Given the description of an element on the screen output the (x, y) to click on. 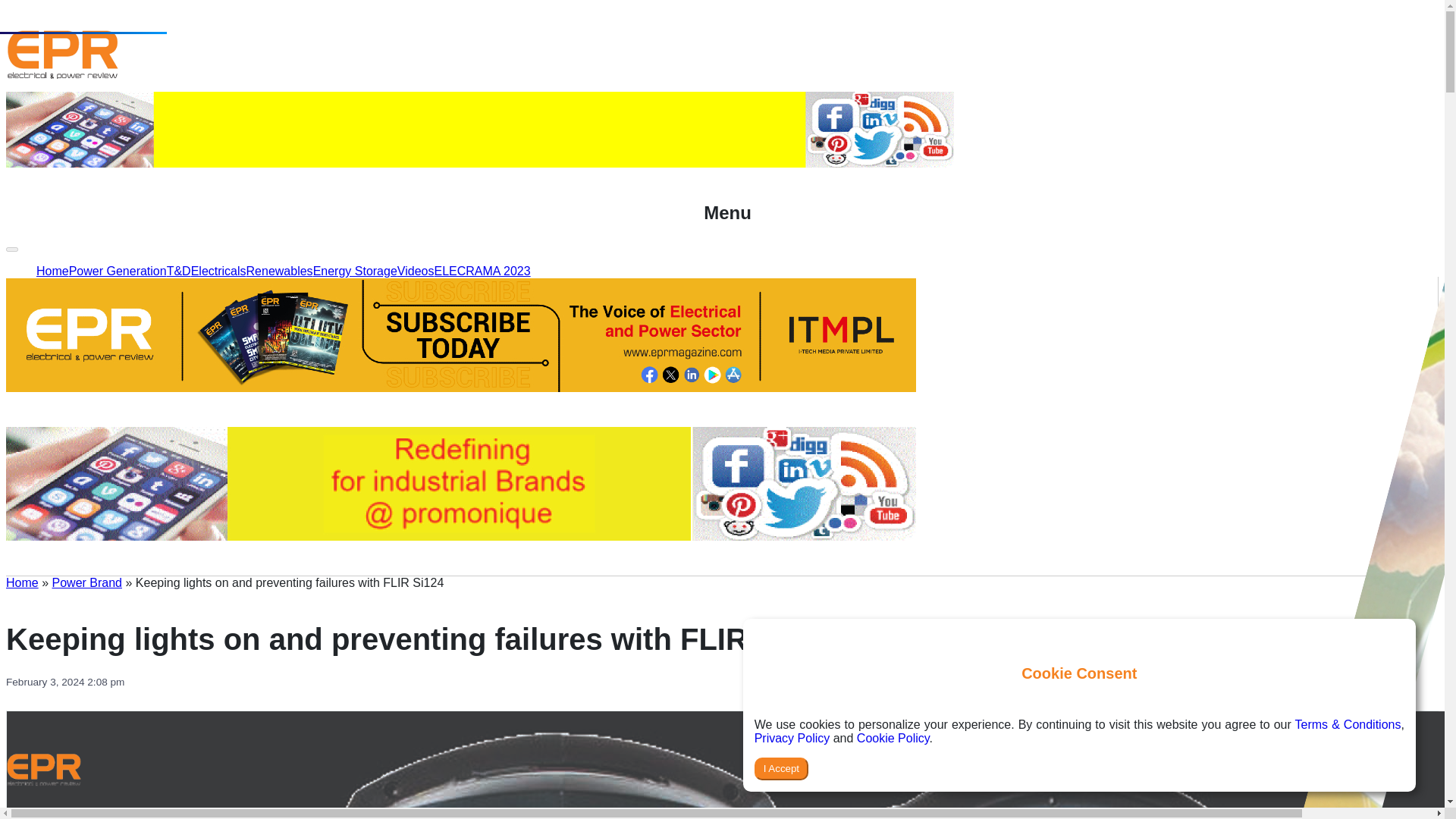
Renewables (279, 270)
Electricals (218, 270)
ELECRAMA 2023 (641, 208)
Power Generation (117, 270)
Power Generation (89, 208)
Energy Storage (355, 270)
Home (52, 270)
Home (22, 582)
I Accept (781, 768)
Energy Storage (453, 208)
Videos (545, 208)
ELECRAMA 2023 (481, 270)
Renewables (346, 208)
Home (22, 582)
Videos (415, 270)
